Given the description of an element on the screen output the (x, y) to click on. 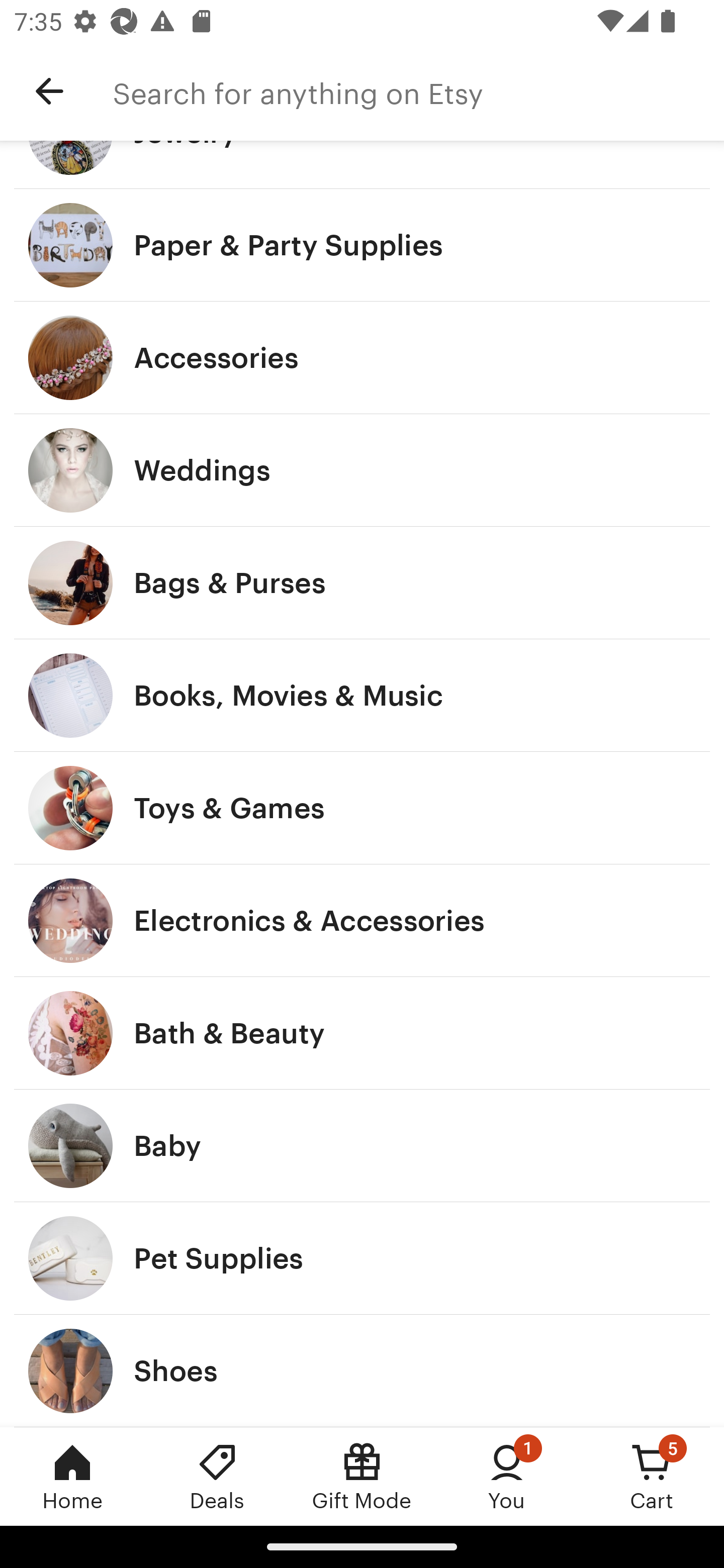
Navigate up (49, 91)
Search for anything on Etsy (418, 91)
Paper & Party Supplies (361, 245)
Accessories (361, 357)
Weddings (361, 469)
Bags & Purses (361, 582)
Books, Movies & Music (361, 695)
Toys & Games (361, 807)
Electronics & Accessories (361, 919)
Bath & Beauty (361, 1032)
Baby (361, 1145)
Pet Supplies (361, 1257)
Shoes (361, 1369)
Deals (216, 1475)
Gift Mode (361, 1475)
You, 1 new notification You (506, 1475)
Cart, 5 new notifications Cart (651, 1475)
